Given the description of an element on the screen output the (x, y) to click on. 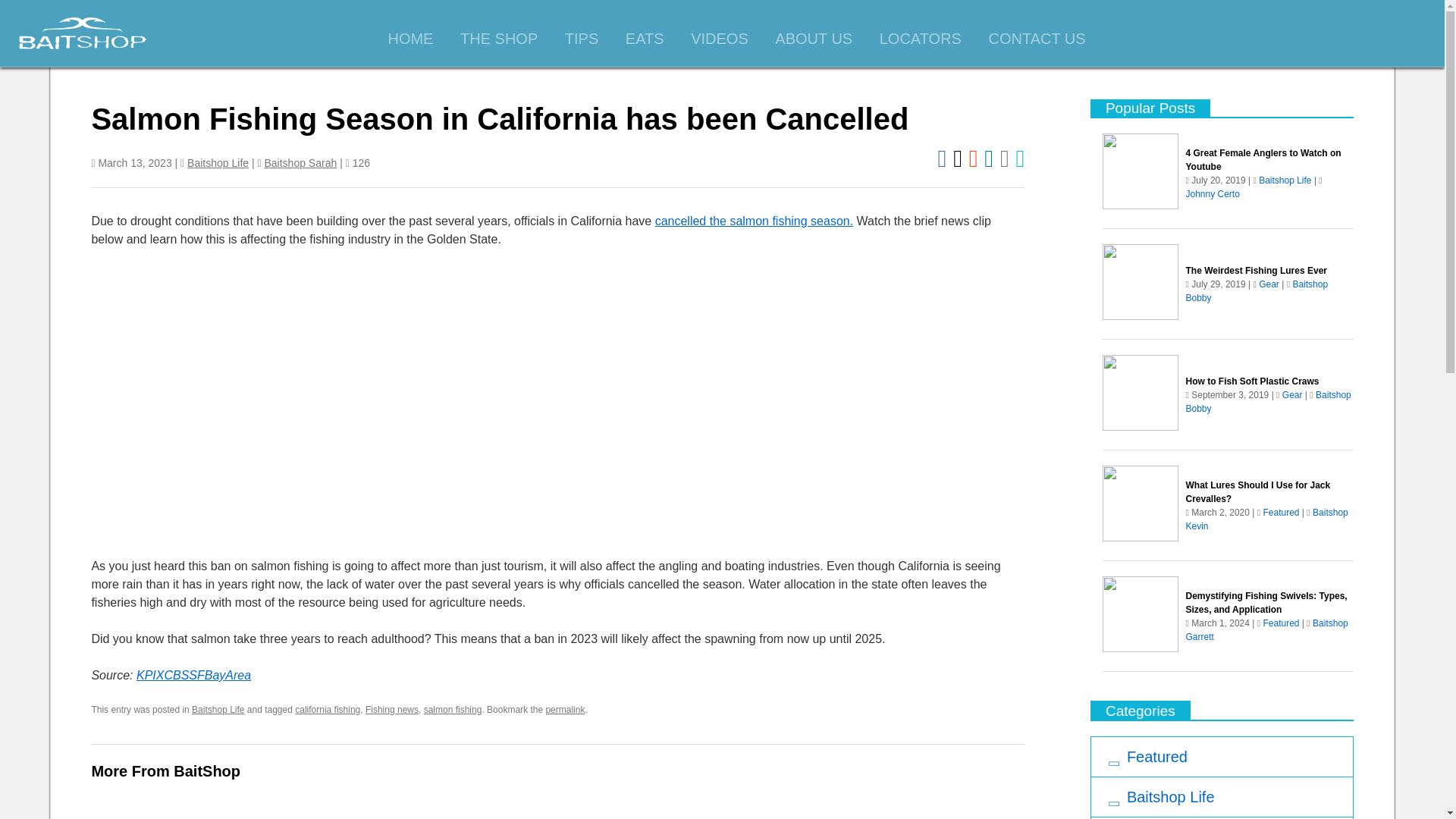
ABOUT US (812, 38)
California cancels salmon fishing season (333, 402)
Baitshop Life (217, 162)
permalink (564, 709)
THE SHOP (498, 38)
View all posts by Baitshop Bobby (1268, 401)
california fishing (327, 709)
Fishing news (392, 709)
View all posts by Baitshop Bobby (1256, 291)
CONTACT US (1036, 38)
salmon fishing (452, 709)
cancelled the salmon fishing season. (754, 220)
KPIXCBSSFBayArea (193, 675)
VIDEOS (719, 38)
